Given the description of an element on the screen output the (x, y) to click on. 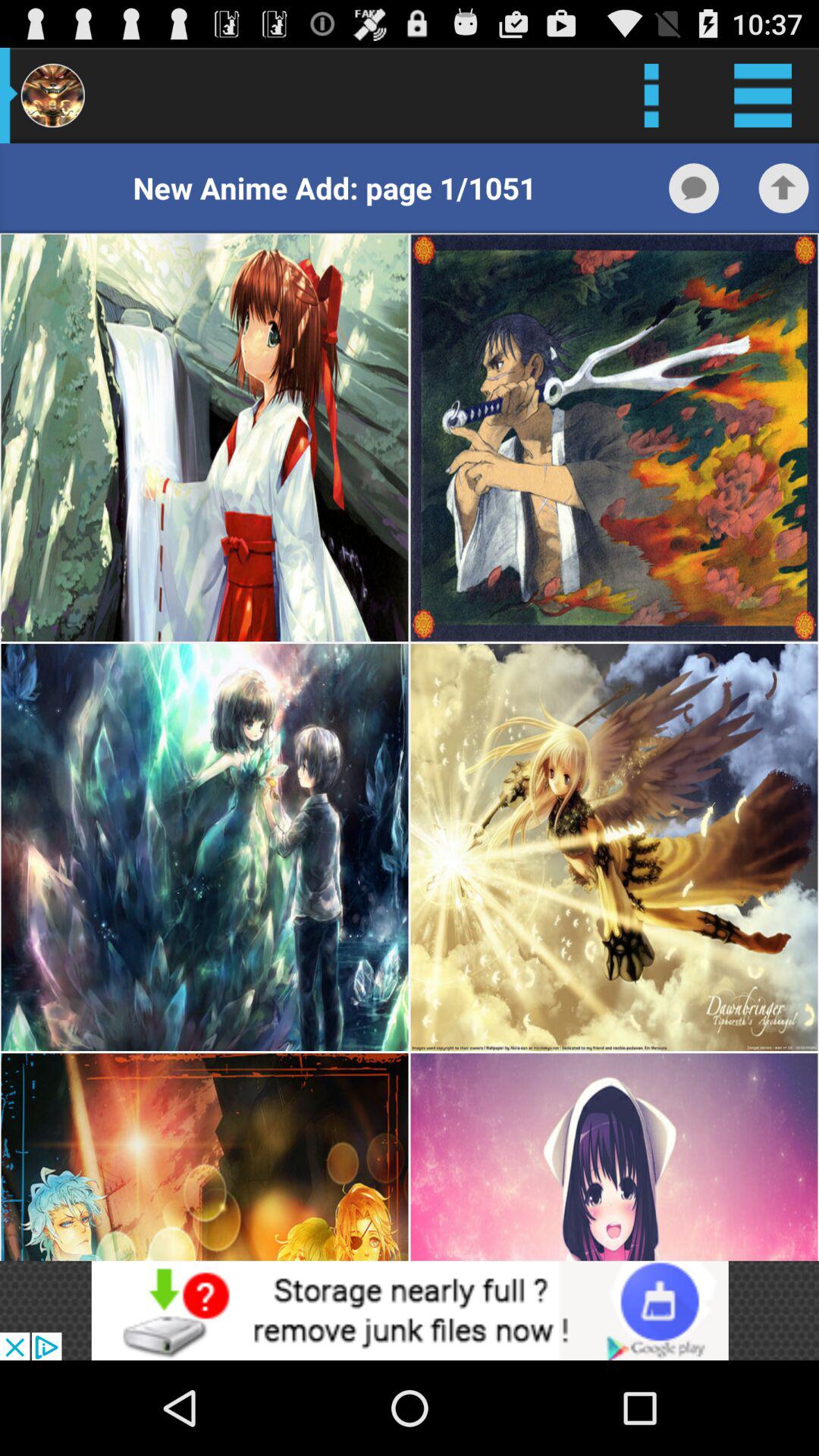
find out more (409, 1310)
